Given the description of an element on the screen output the (x, y) to click on. 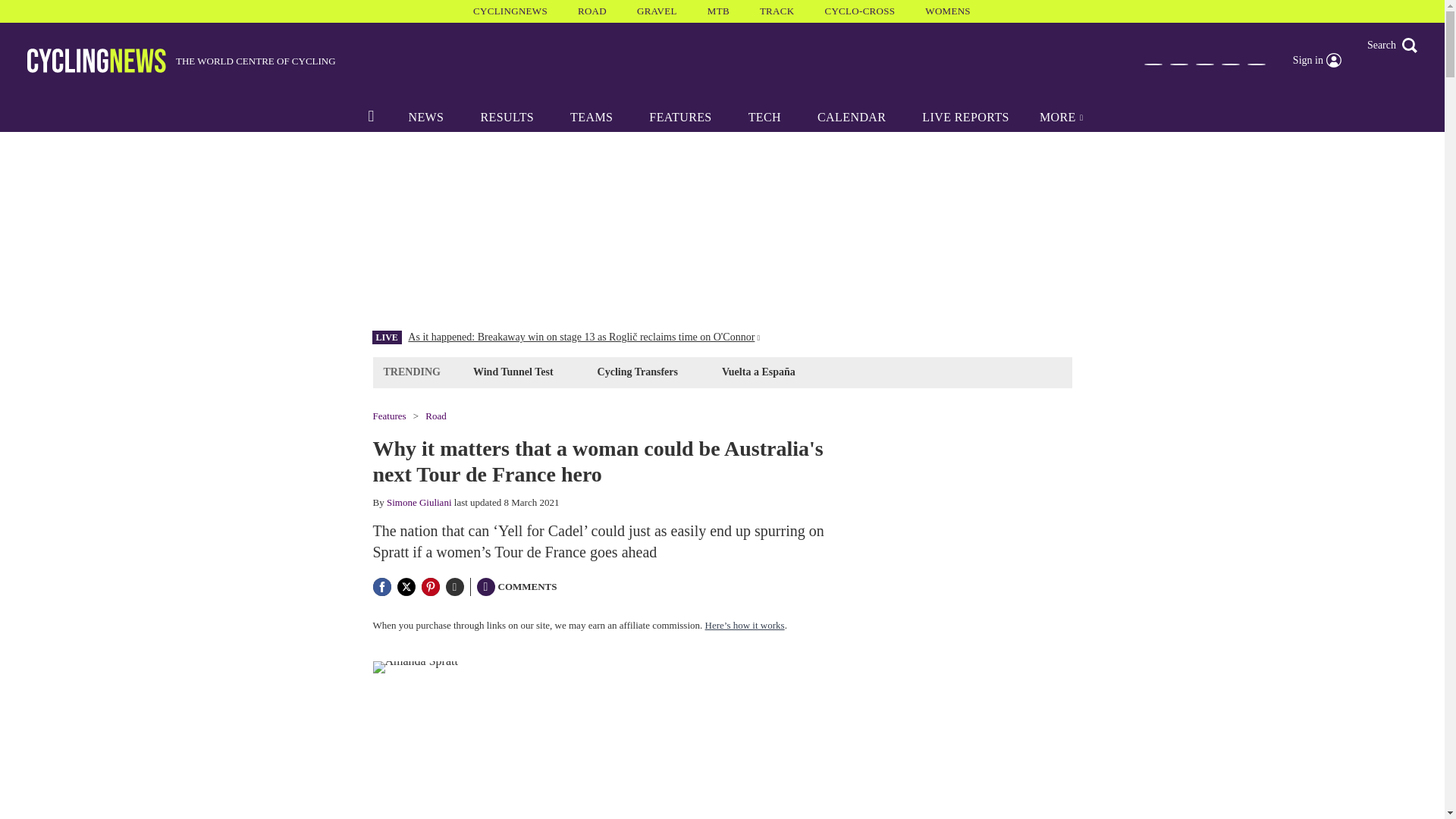
ROAD (592, 10)
THE WORLD CENTRE OF CYCLING (181, 60)
TECH (764, 117)
Features (389, 415)
TRACK (777, 10)
CALENDAR (851, 117)
WOMENS (947, 10)
MTB (718, 10)
FEATURES (679, 117)
NEWS (425, 117)
